Given the description of an element on the screen output the (x, y) to click on. 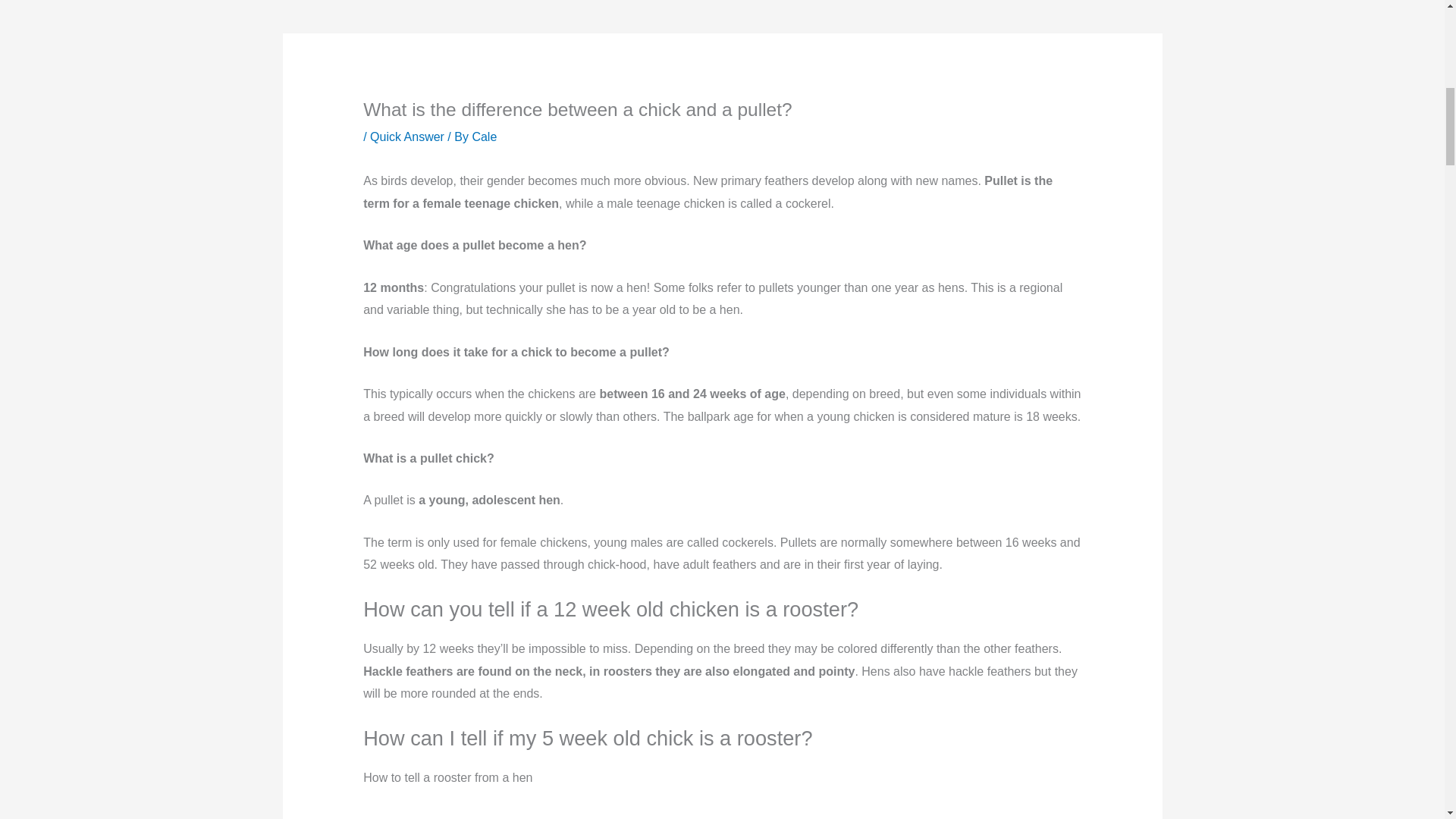
View all posts by Cale (483, 136)
Quick Answer (406, 136)
How to tell a rooster from a hen (721, 813)
Cale (483, 136)
